Given the description of an element on the screen output the (x, y) to click on. 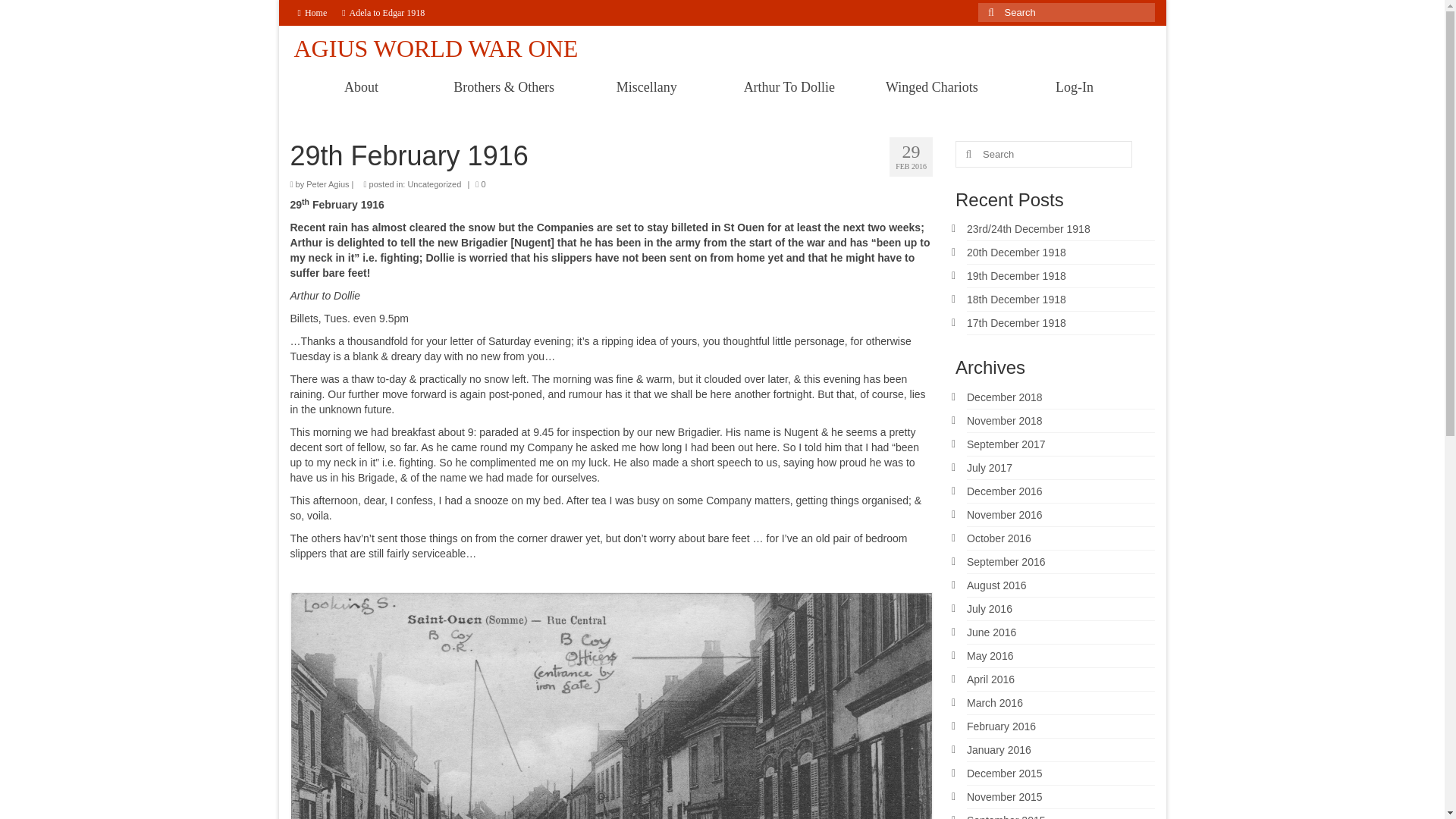
AGIUS WORLD WAR ONE (436, 48)
About (360, 87)
Adela to Edgar 1918 (383, 12)
Arthur To Dollie (788, 87)
Home (311, 12)
Miscellany (646, 87)
